Given the description of an element on the screen output the (x, y) to click on. 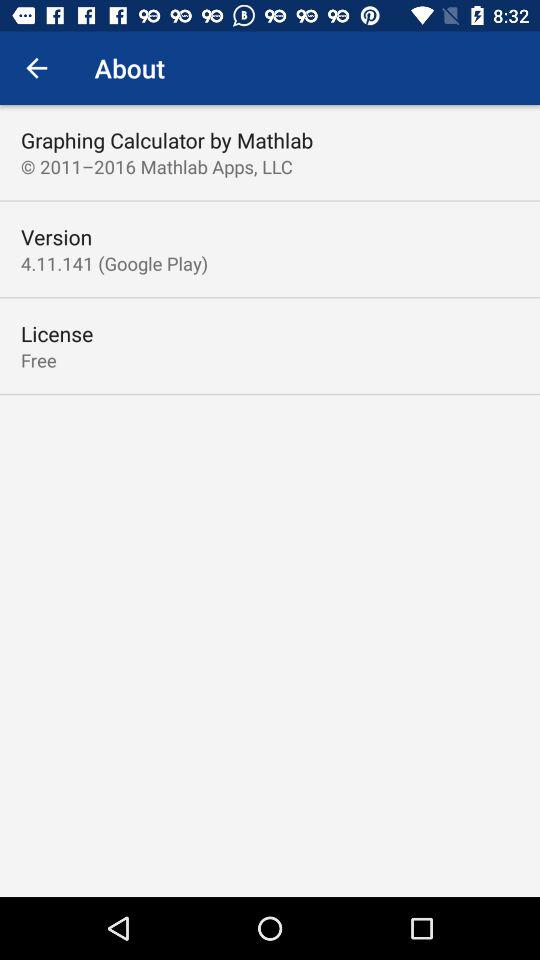
choose icon next to about (36, 68)
